Given the description of an element on the screen output the (x, y) to click on. 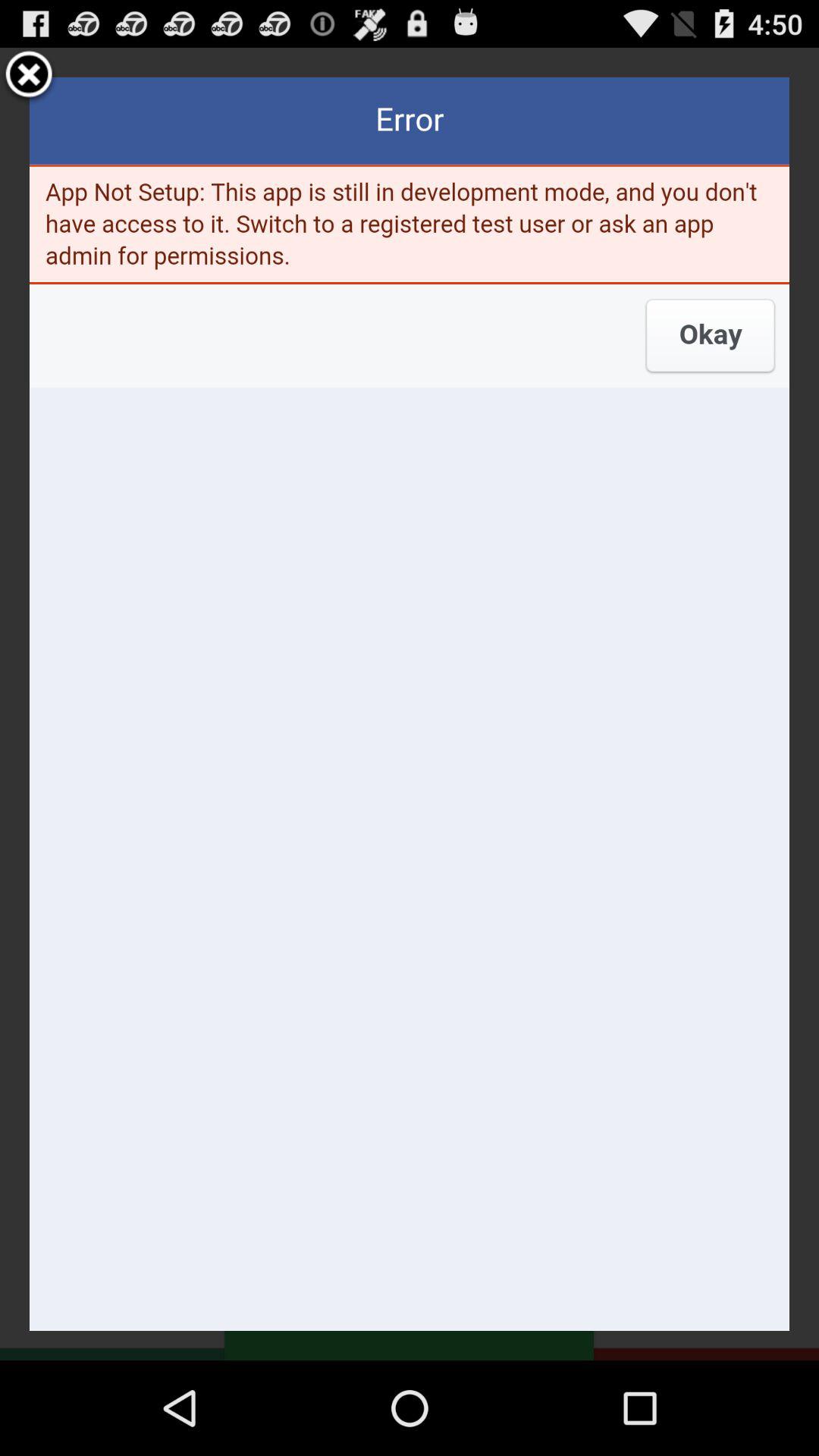
close menu (29, 76)
